Given the description of an element on the screen output the (x, y) to click on. 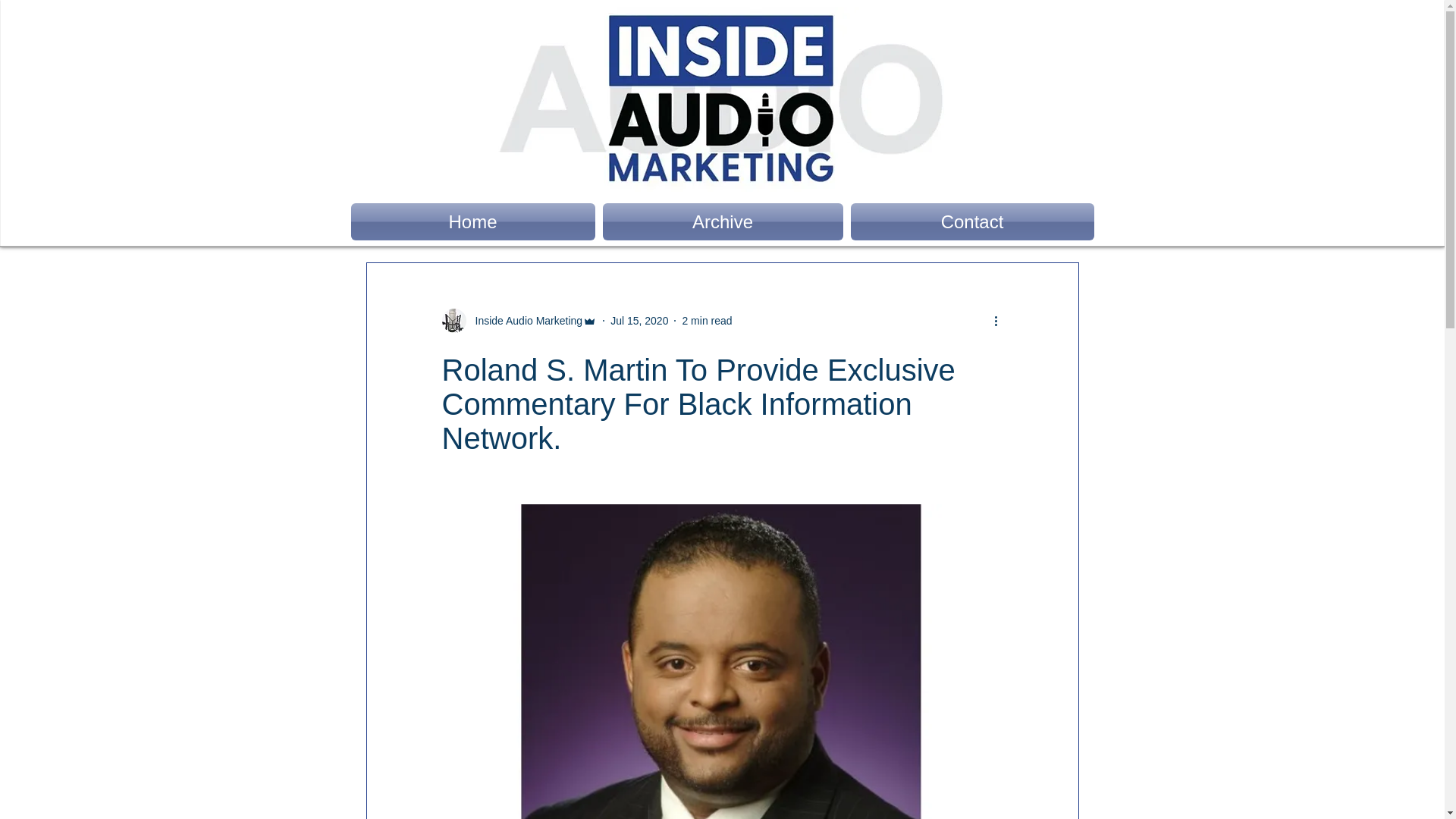
Inside Audio Marketing (518, 320)
Contact (969, 221)
Home (474, 221)
Jul 15, 2020 (639, 319)
Archive (722, 221)
Inside Audio Marketing (523, 320)
2 min read (706, 319)
